Given the description of an element on the screen output the (x, y) to click on. 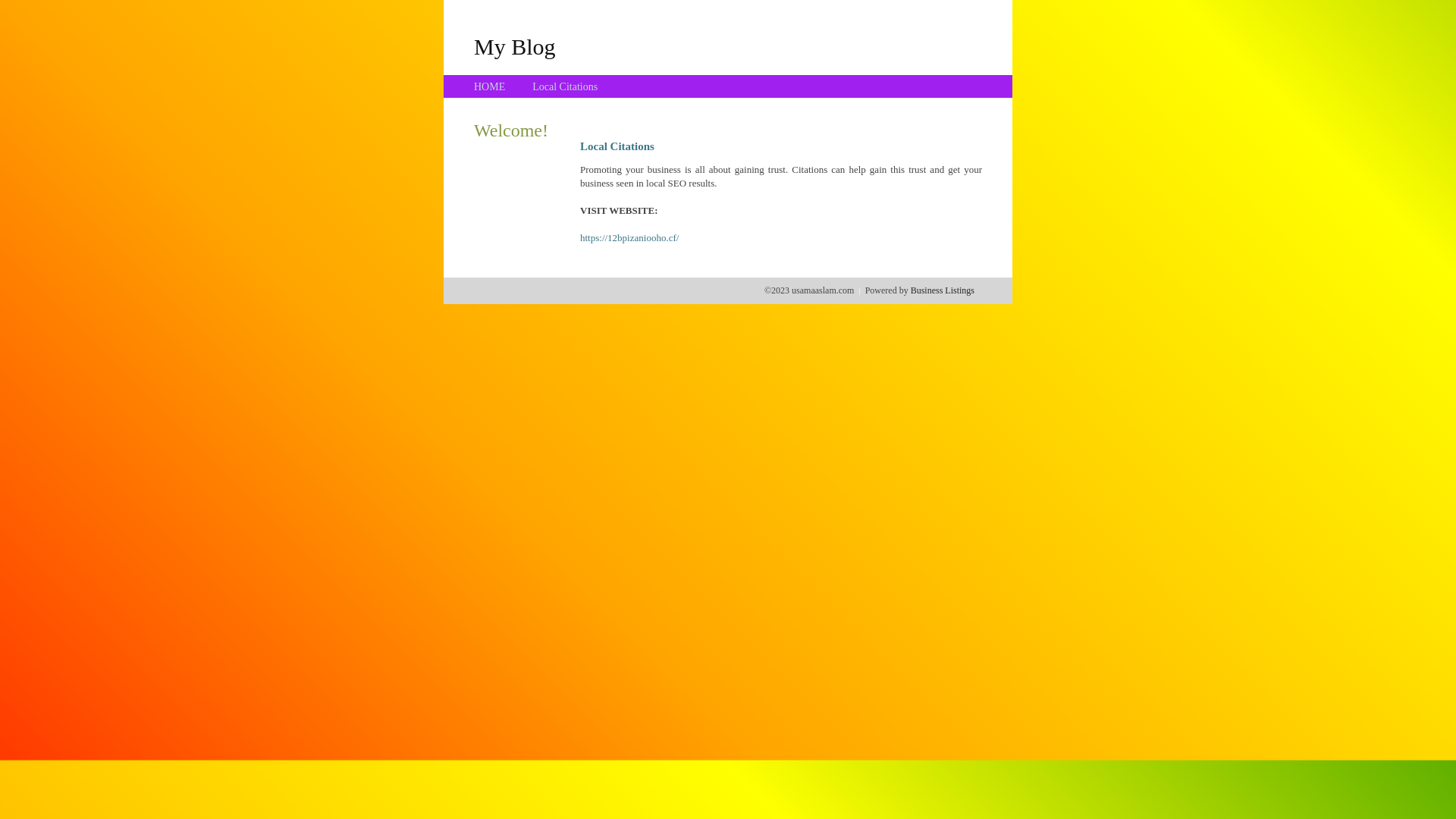
My Blog Element type: text (514, 46)
Business Listings Element type: text (942, 290)
https://12bpizaniooho.cf/ Element type: text (629, 237)
HOME Element type: text (489, 86)
Local Citations Element type: text (564, 86)
